Given the description of an element on the screen output the (x, y) to click on. 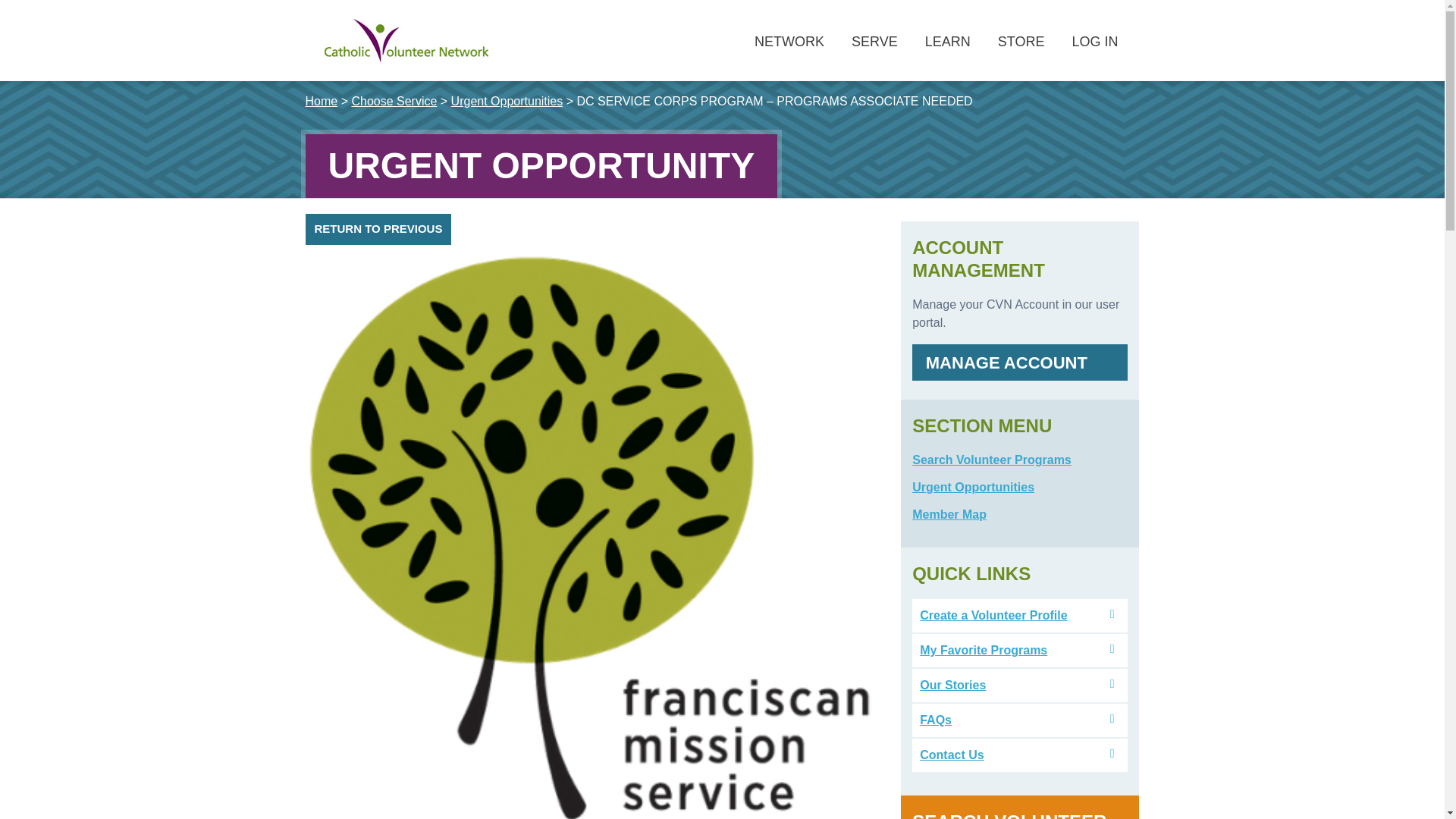
SERVE (874, 41)
RETURN TO PREVIOUS (377, 228)
Create a Volunteer Profile (993, 615)
FAQs (936, 719)
Our Stories (952, 684)
Contact Us (952, 754)
Go to Catholic Volunteer Network. (320, 101)
LEARN (947, 41)
Member Map (949, 513)
LOG IN (1094, 41)
